Given the description of an element on the screen output the (x, y) to click on. 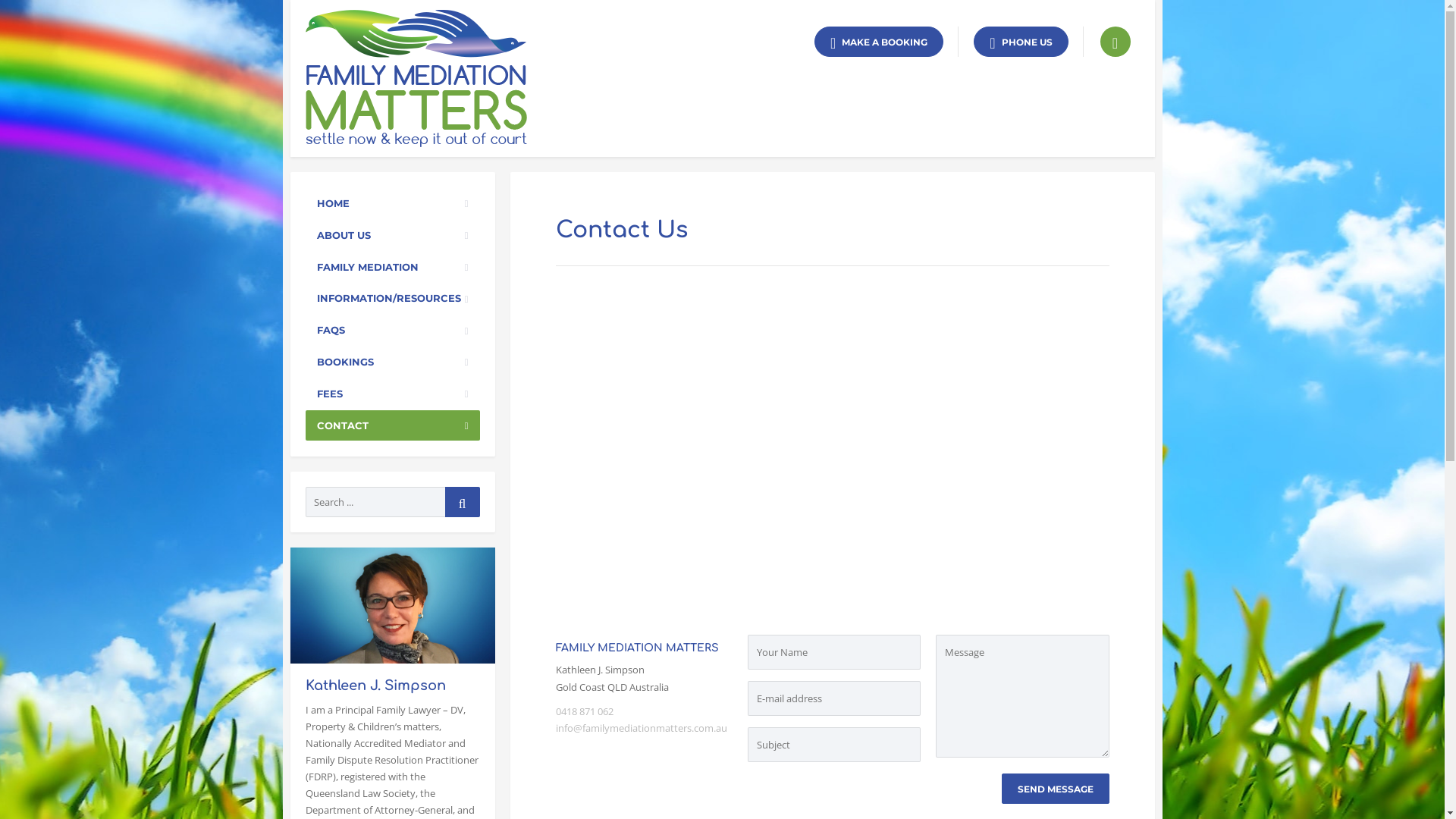
CONTACT Element type: text (391, 425)
FAQS Element type: text (391, 329)
FEES Element type: text (391, 393)
ABOUT US Element type: text (391, 235)
BOOKINGS Element type: text (391, 361)
info@familymediationmatters.com.au Element type: text (640, 727)
HOME Element type: text (391, 203)
INFORMATION/RESOURCES Element type: text (391, 297)
0418 871 062 Element type: text (583, 711)
MAKE A BOOKING Element type: text (878, 41)
SEND MESSAGE Element type: text (1054, 788)
PHONE US Element type: text (1020, 41)
FAMILY MEDIATION Element type: text (391, 266)
